Given the description of an element on the screen output the (x, y) to click on. 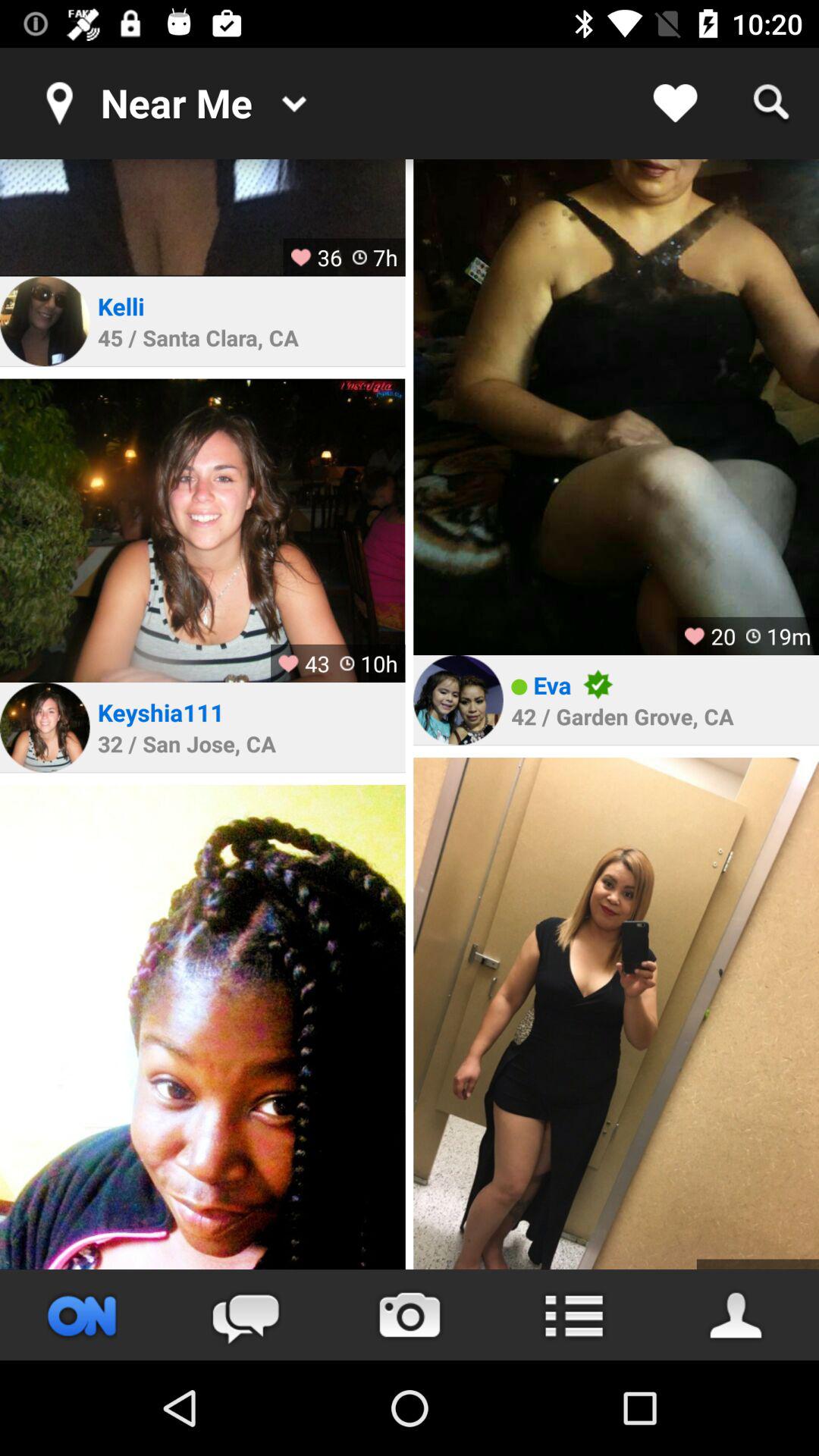
start a chat (245, 1315)
